Given the description of an element on the screen output the (x, y) to click on. 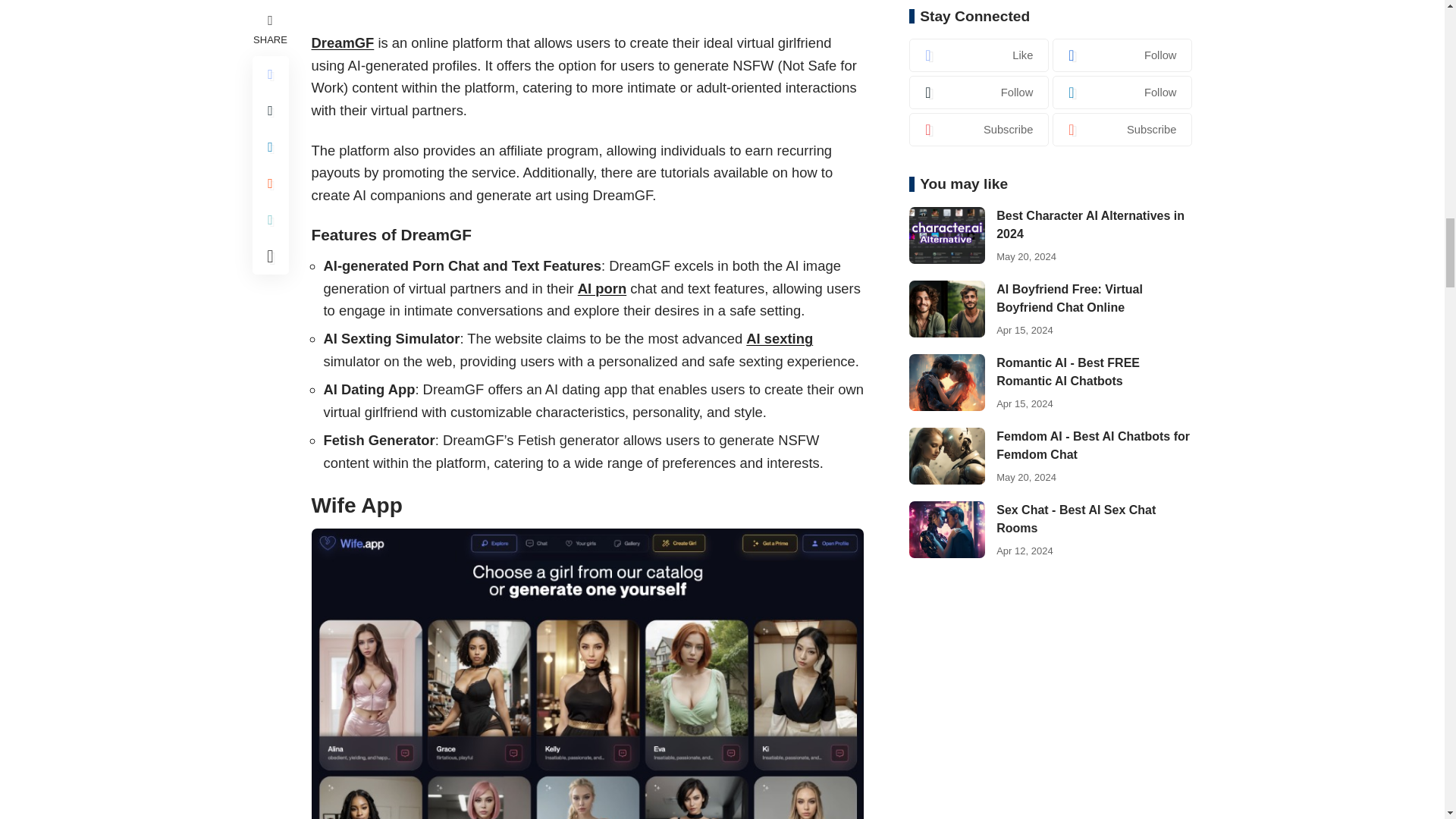
9 Best Janitor Ai Alternatives You Must Try Now (587, 6)
AI porn (602, 288)
